Given the description of an element on the screen output the (x, y) to click on. 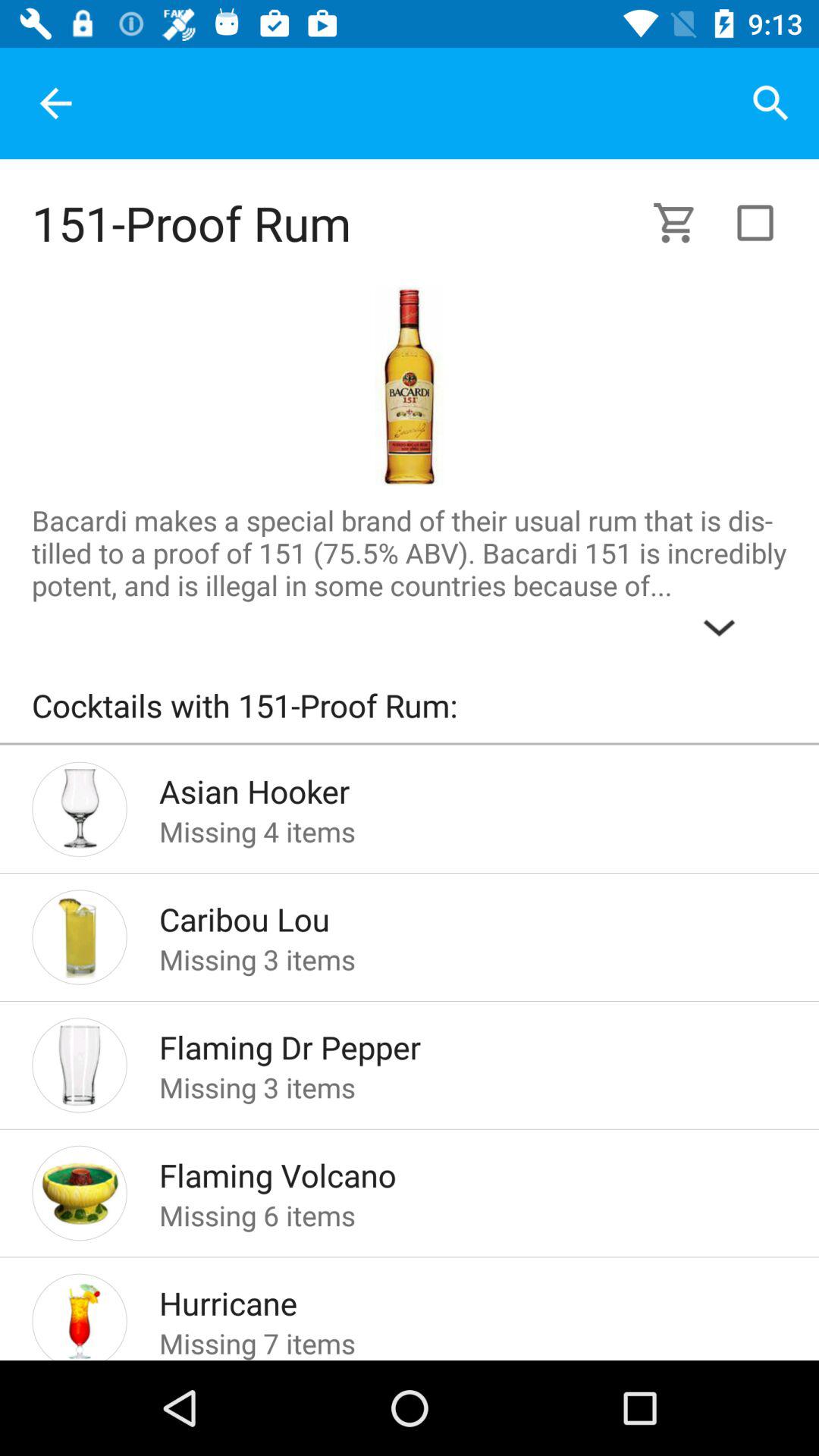
go to shopping cart (683, 222)
